Given the description of an element on the screen output the (x, y) to click on. 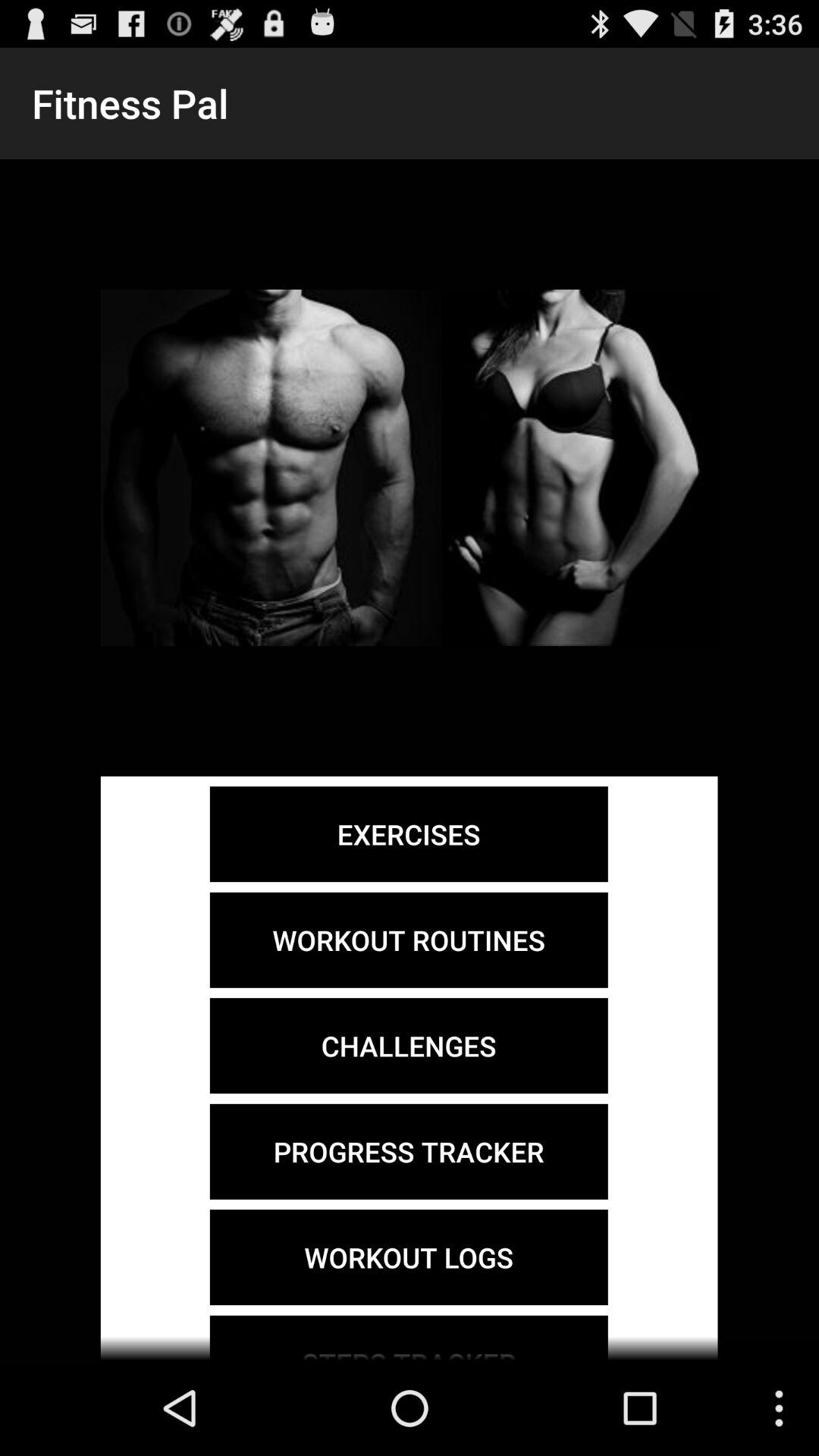
jump until the progress tracker item (408, 1151)
